Given the description of an element on the screen output the (x, y) to click on. 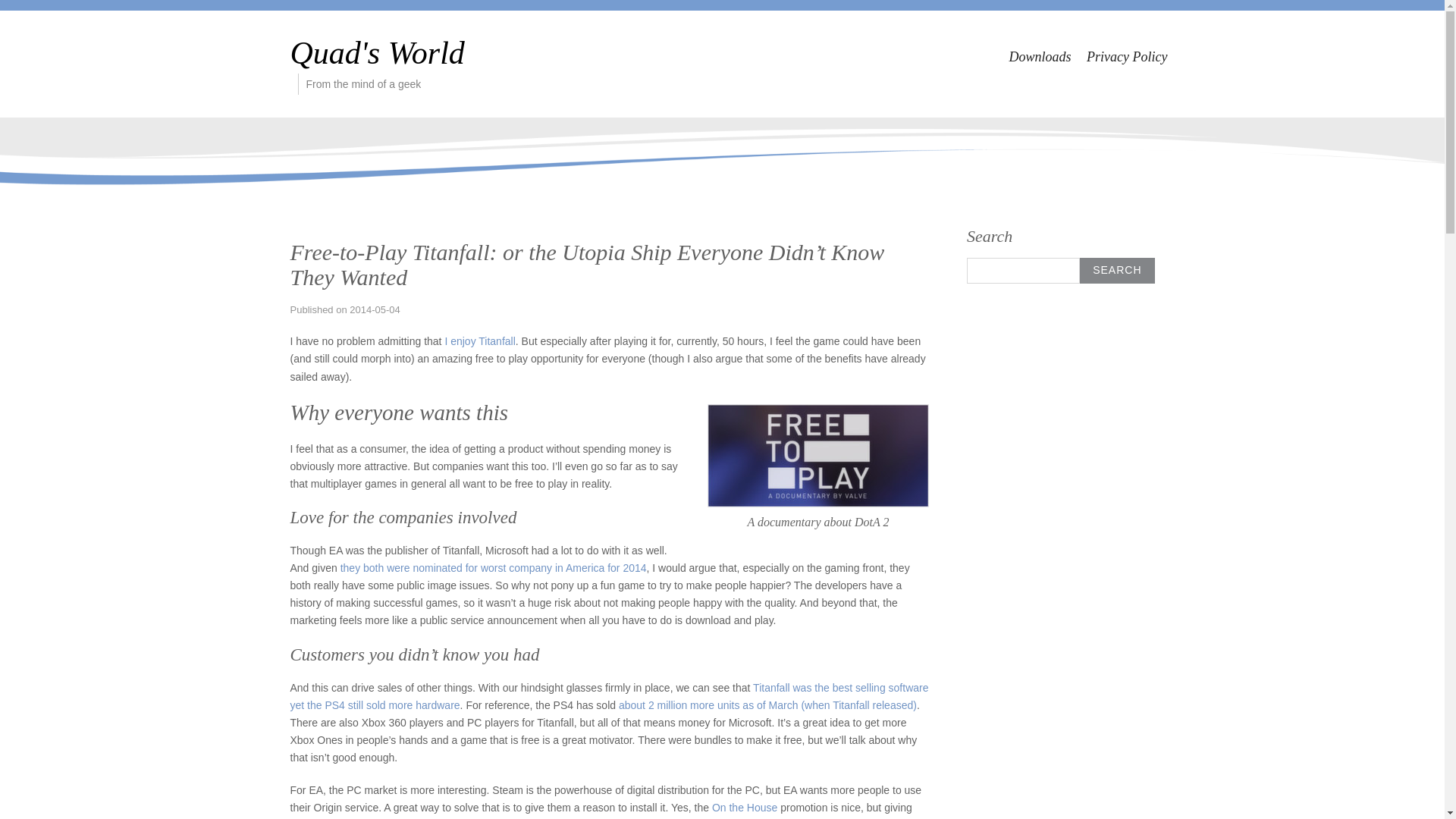
Quad's World (376, 53)
Search (1117, 270)
Downloads (1040, 56)
Search (1117, 270)
Privacy Policy (1126, 56)
I enjoy Titanfall (479, 340)
On the House (744, 807)
